Given the description of an element on the screen output the (x, y) to click on. 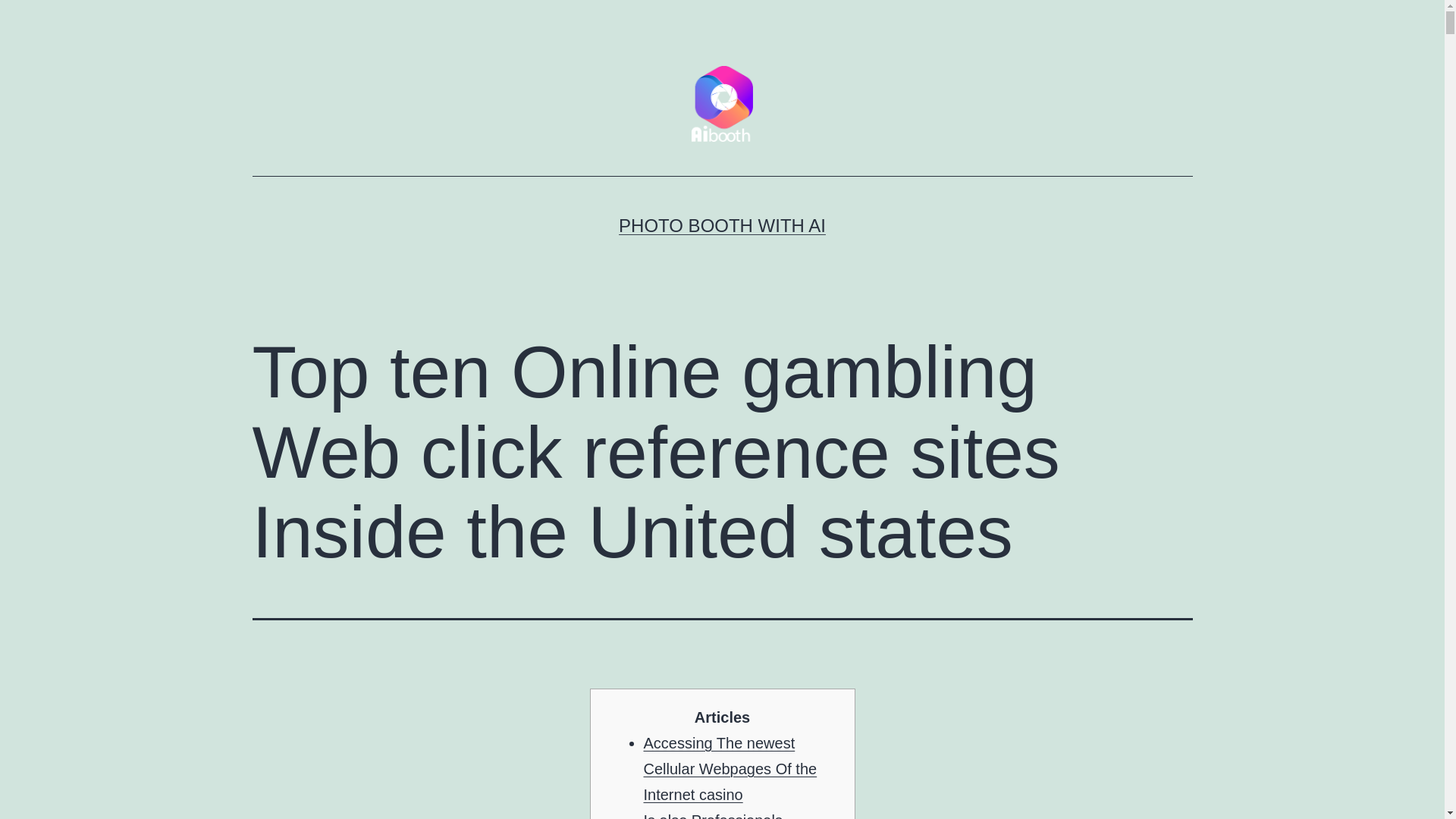
PHOTO BOOTH WITH AI (721, 225)
